Given the description of an element on the screen output the (x, y) to click on. 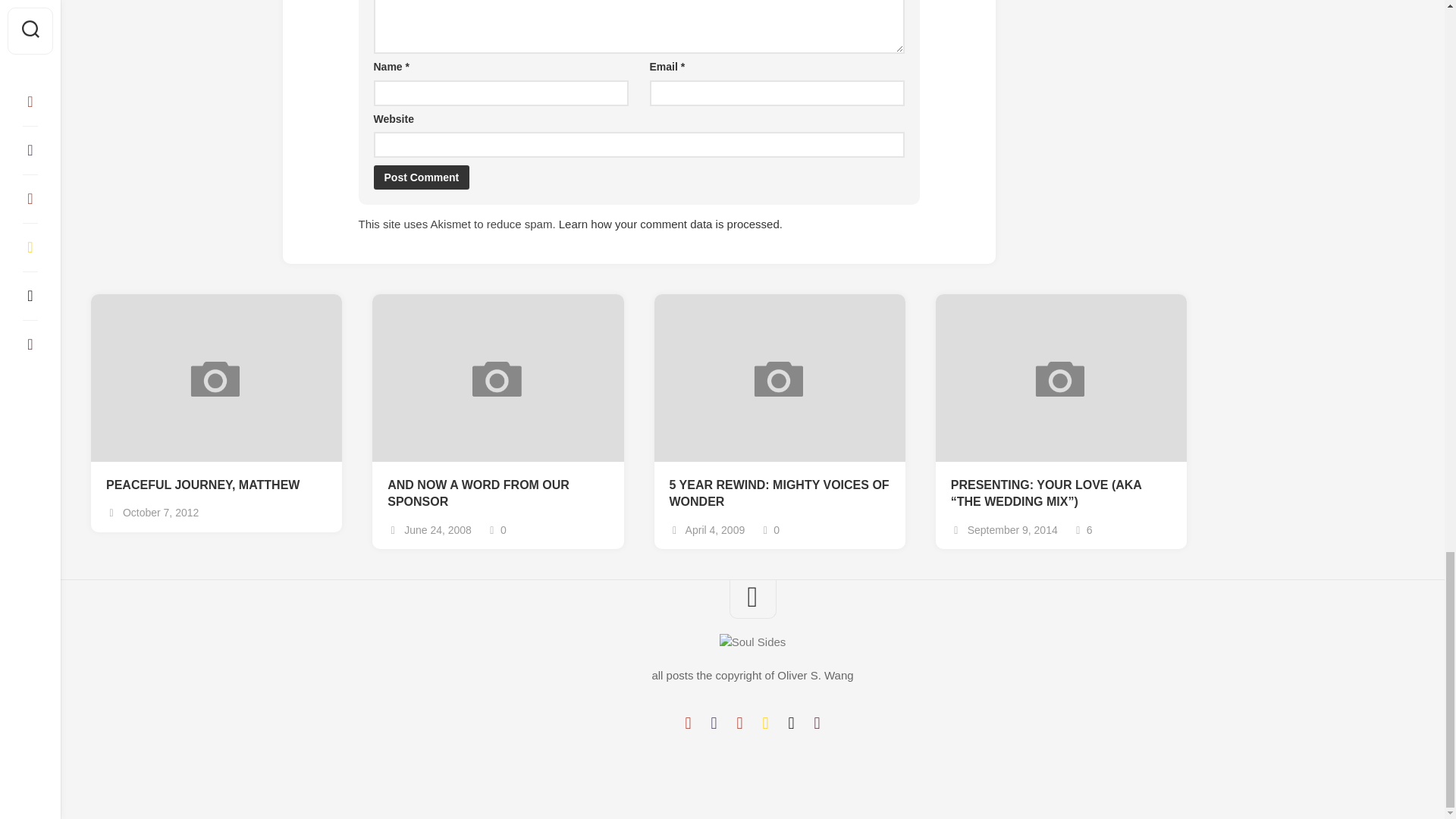
summer songs (765, 723)
Post Comment (420, 177)
PEACEFUL JOURNEY, MATTHEW (216, 485)
publication portfolio (791, 723)
0 (496, 530)
AND NOW A WORD FROM OUR SPONSOR (497, 493)
Post Comment (420, 177)
discogs store (816, 723)
Learn how your comment data is processed (668, 223)
5 YEAR REWIND: MIGHTY VOICES OF WONDER (778, 493)
instagram (739, 723)
0 (769, 530)
6 (1083, 530)
